Given the description of an element on the screen output the (x, y) to click on. 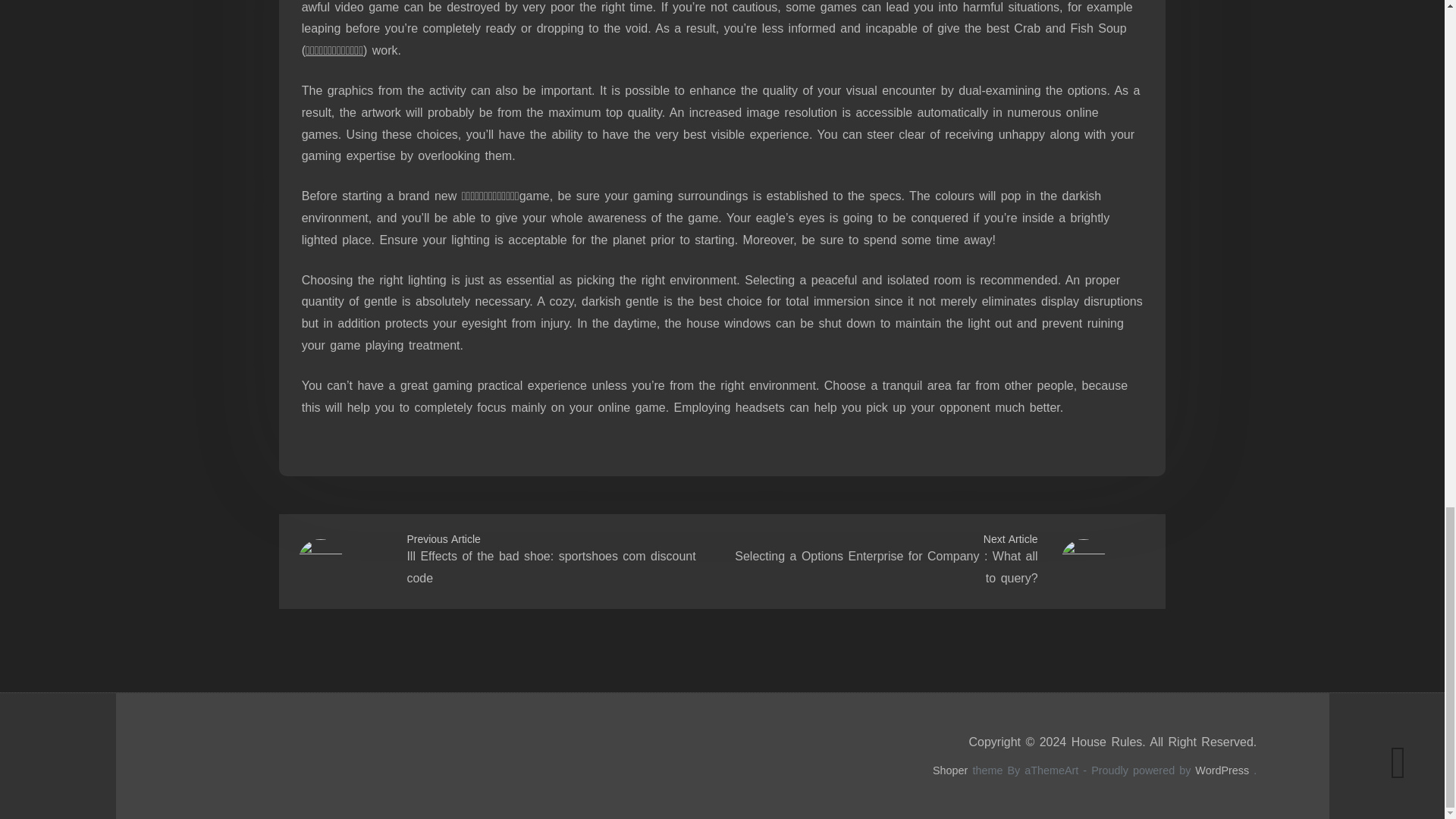
Ill Effects of the bad shoe: sportshoes com discount code (550, 566)
WordPress (1222, 770)
Shoper (950, 770)
